Given the description of an element on the screen output the (x, y) to click on. 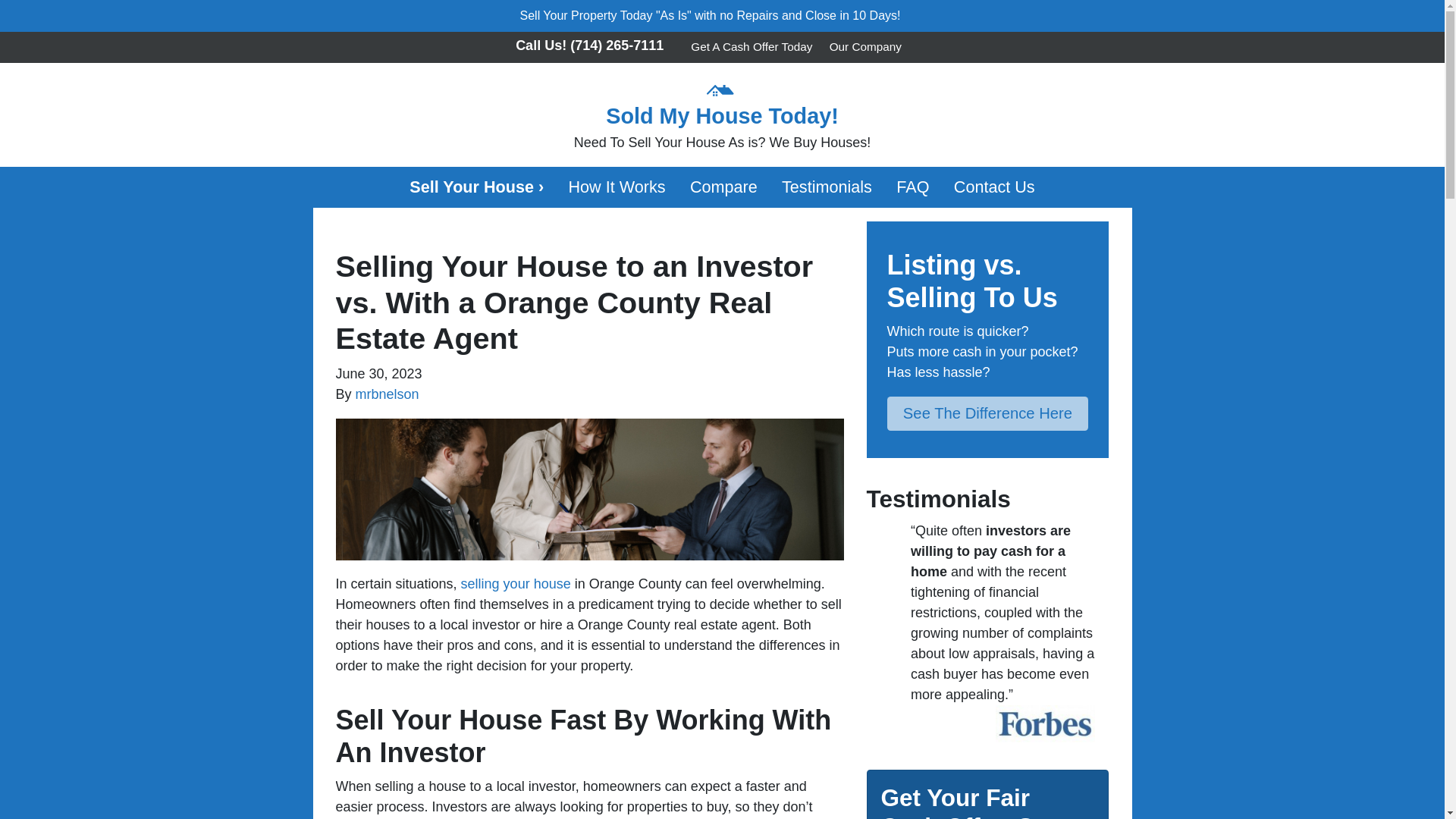
See The Difference Here (987, 413)
Compare (724, 187)
Contact Us (994, 187)
Contact Us (994, 187)
Testimonials (826, 187)
selling your house (515, 583)
mrbnelson (387, 394)
FAQ (912, 187)
Testimonials (826, 187)
How It Works (616, 187)
FAQ (912, 187)
Compare (724, 187)
Get A Cash Offer Today (751, 47)
